Given the description of an element on the screen output the (x, y) to click on. 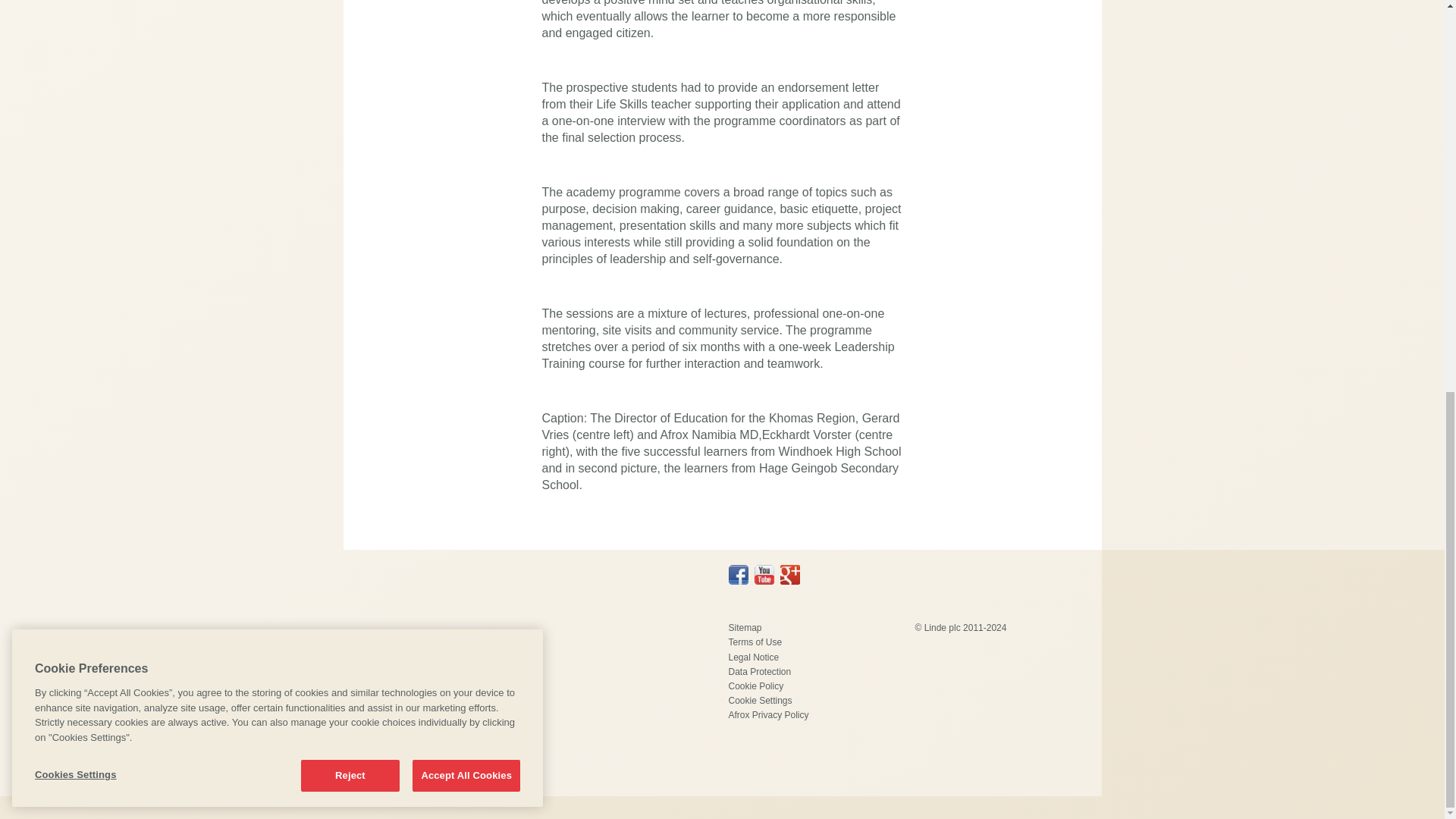
Data Protection (759, 671)
Cookies Settings (100, 24)
Terms of Use (754, 642)
Accept All Cookies (465, 24)
Cookie Policy (755, 685)
Afrox Privacy Policy (768, 715)
Legal Notice (753, 656)
Reject (349, 24)
Sitemap (744, 627)
Cookie Settings (760, 700)
